Given the description of an element on the screen output the (x, y) to click on. 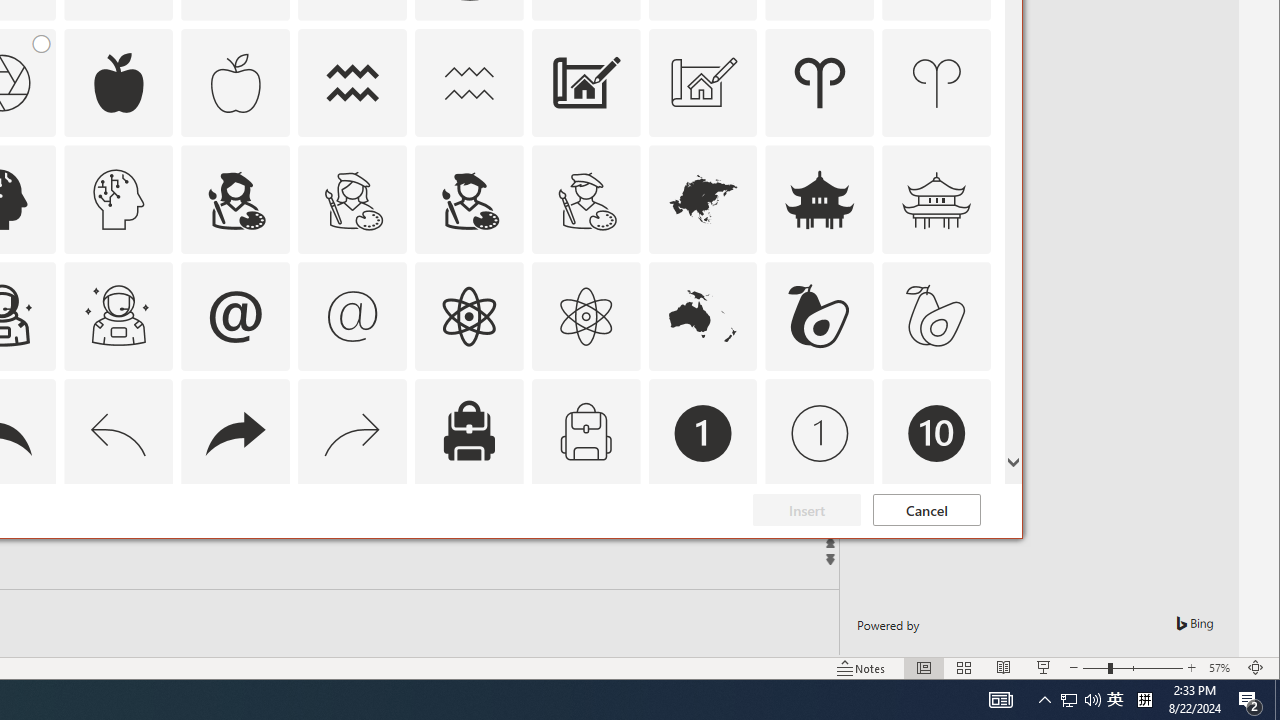
AutomationID: Icons_Aquarius (353, 82)
Action Center, 2 new notifications (1250, 699)
AutomationID: Icons_Back_LTR_M (118, 434)
AutomationID: Icons_Atom (468, 316)
AutomationID: Icons_ArtificialIntelligence_M (118, 200)
AutomationID: Icons_ArtistFemale_M (353, 200)
AutomationID: Icons_Asia (702, 200)
AutomationID: Icons_AsianTemple (819, 200)
AutomationID: Icons_Badge8_M (702, 550)
AutomationID: Icons_Avocado (819, 316)
